Given the description of an element on the screen output the (x, y) to click on. 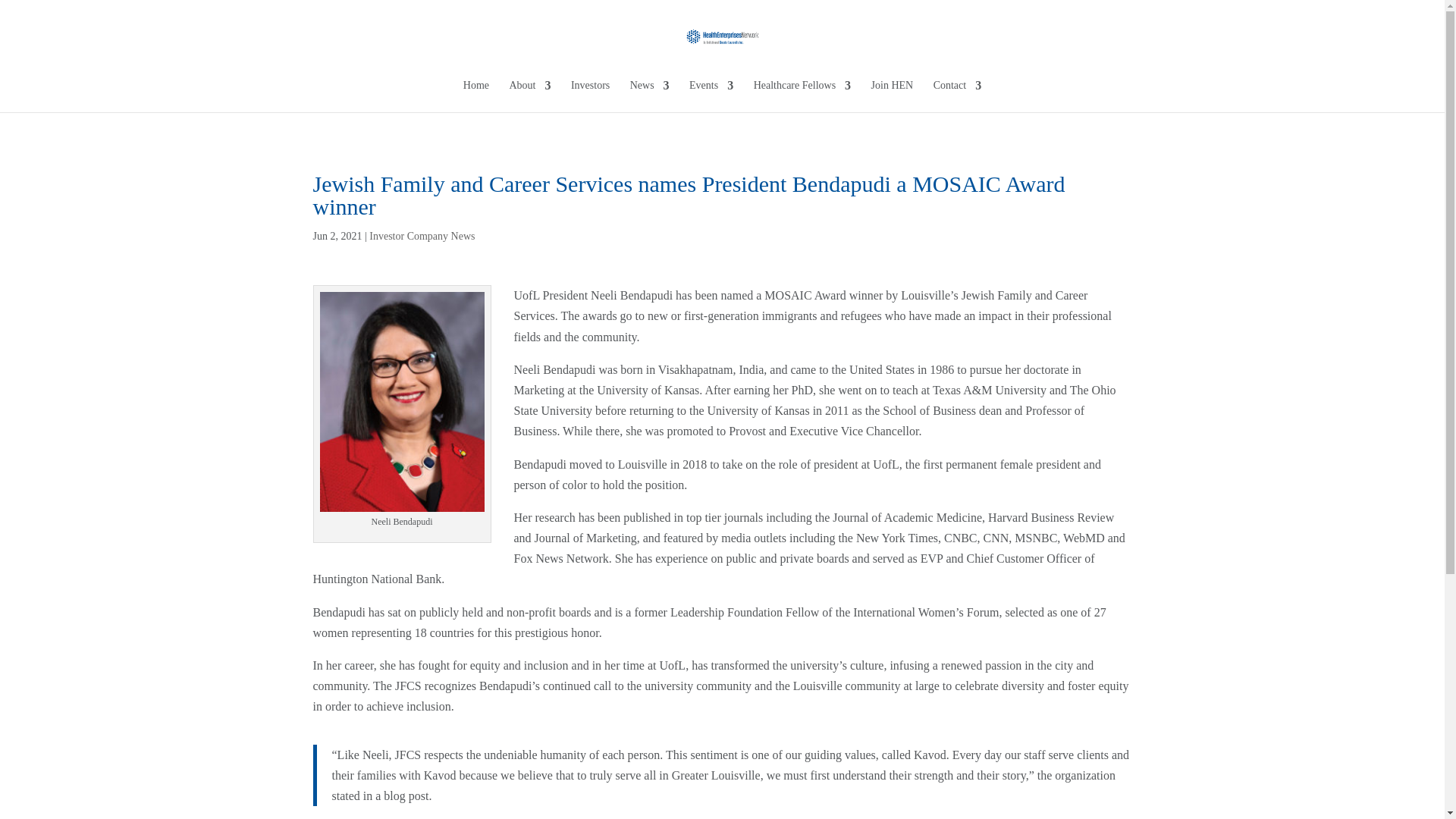
Events (710, 96)
News (649, 96)
Investors (590, 96)
About (529, 96)
Healthcare Fellows (802, 96)
Contact (957, 96)
Join HEN (892, 96)
